Given the description of an element on the screen output the (x, y) to click on. 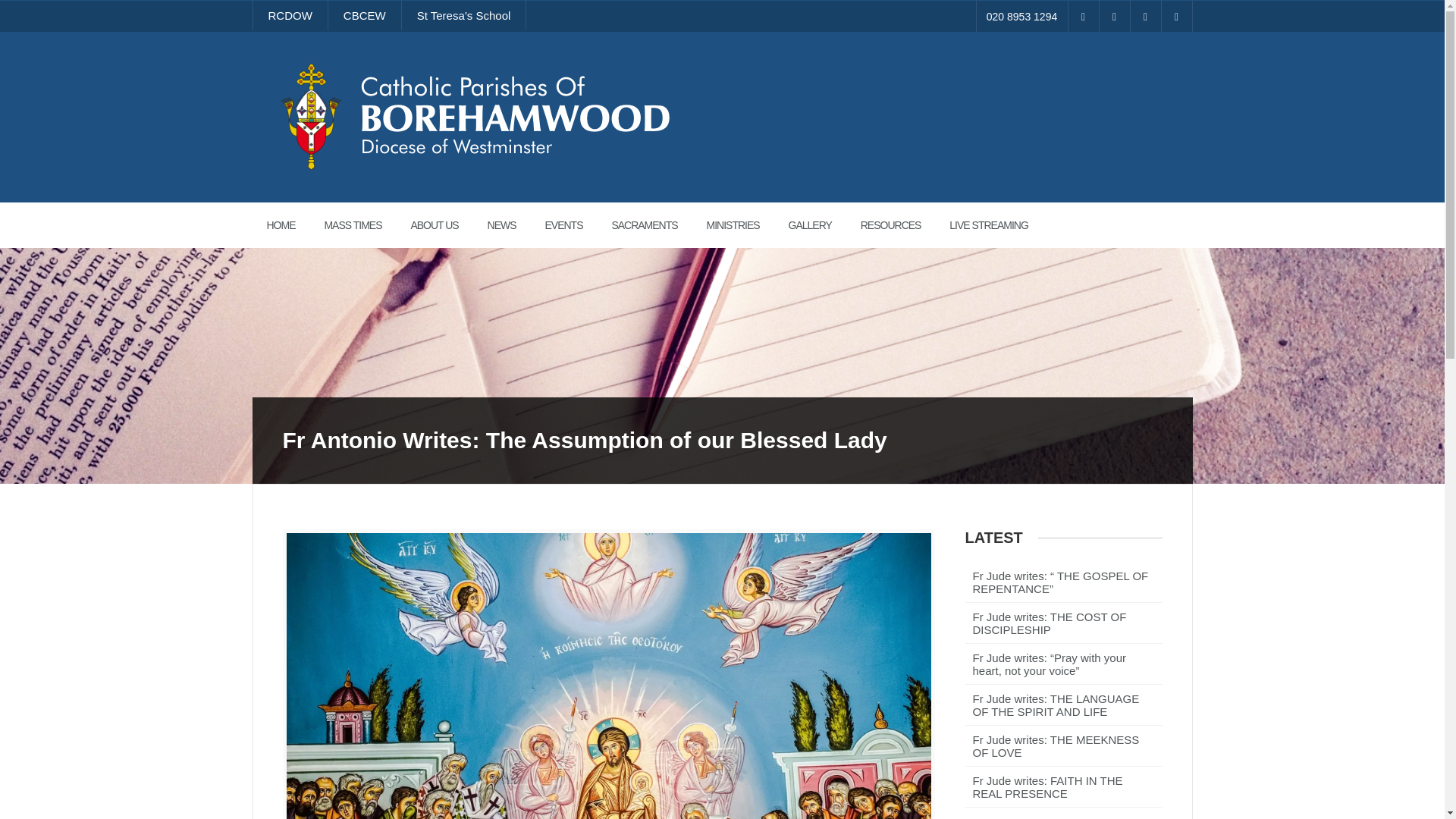
HOME (279, 225)
Search (22, 8)
RCDOW (290, 15)
CBCEW (365, 15)
EVENTS (562, 225)
NEWS (502, 225)
SACRAMENTS (643, 225)
MINISTRIES (732, 225)
ABOUT US (433, 225)
020 8953 1294 (1021, 15)
RESOURCES (890, 225)
Facebook (1082, 15)
MASS TIMES (352, 225)
GALLERY (809, 225)
Twitter (1114, 15)
